Given the description of an element on the screen output the (x, y) to click on. 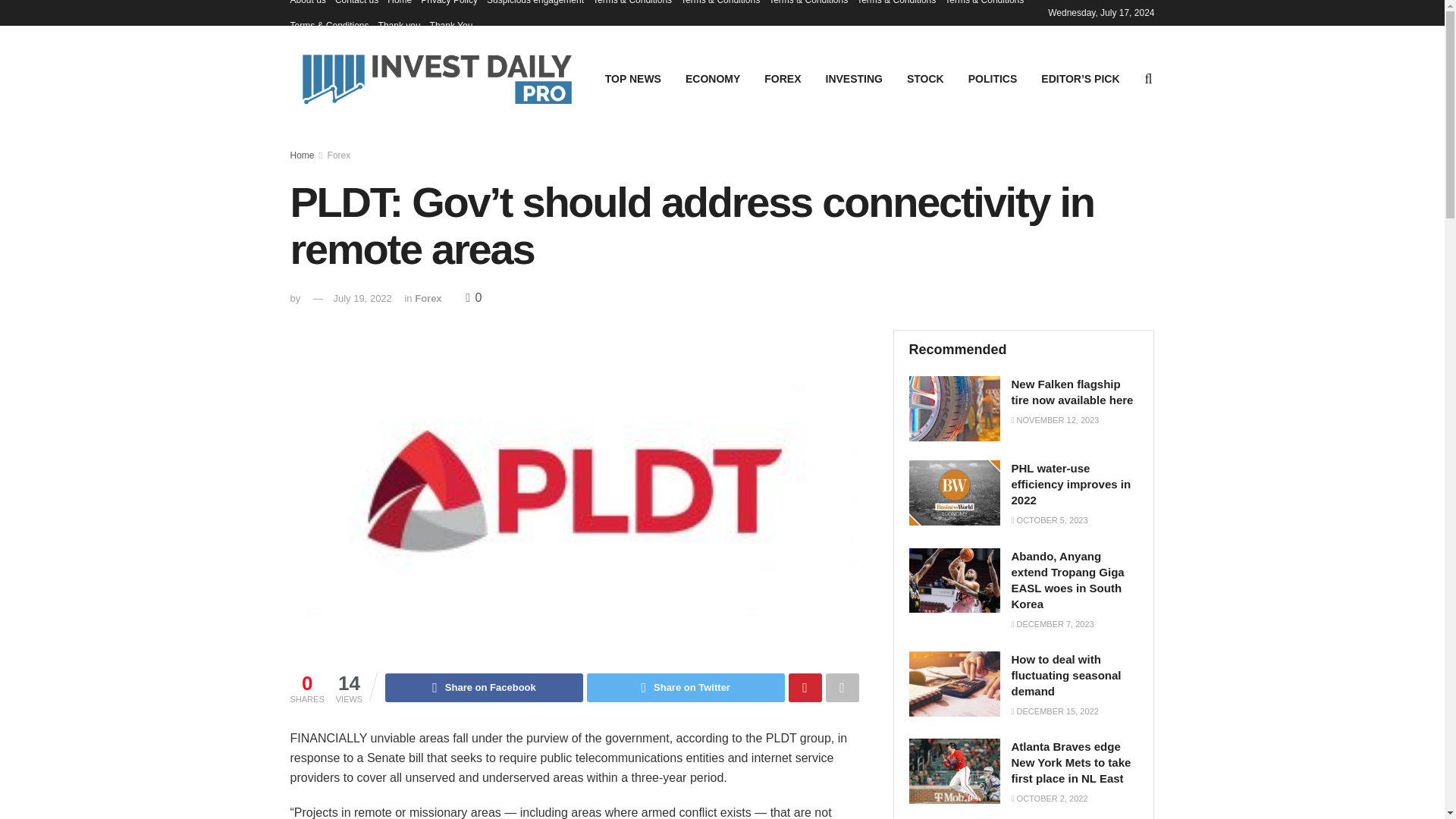
TOP NEWS (632, 78)
FOREX (782, 78)
Thank you (399, 25)
Suspicious engagement (534, 6)
About us (306, 6)
Forex (338, 154)
Thank You (451, 25)
Home (301, 154)
STOCK (925, 78)
INVESTING (854, 78)
Home (399, 6)
Contact us (356, 6)
ECONOMY (712, 78)
July 19, 2022 (362, 297)
POLITICS (992, 78)
